Given the description of an element on the screen output the (x, y) to click on. 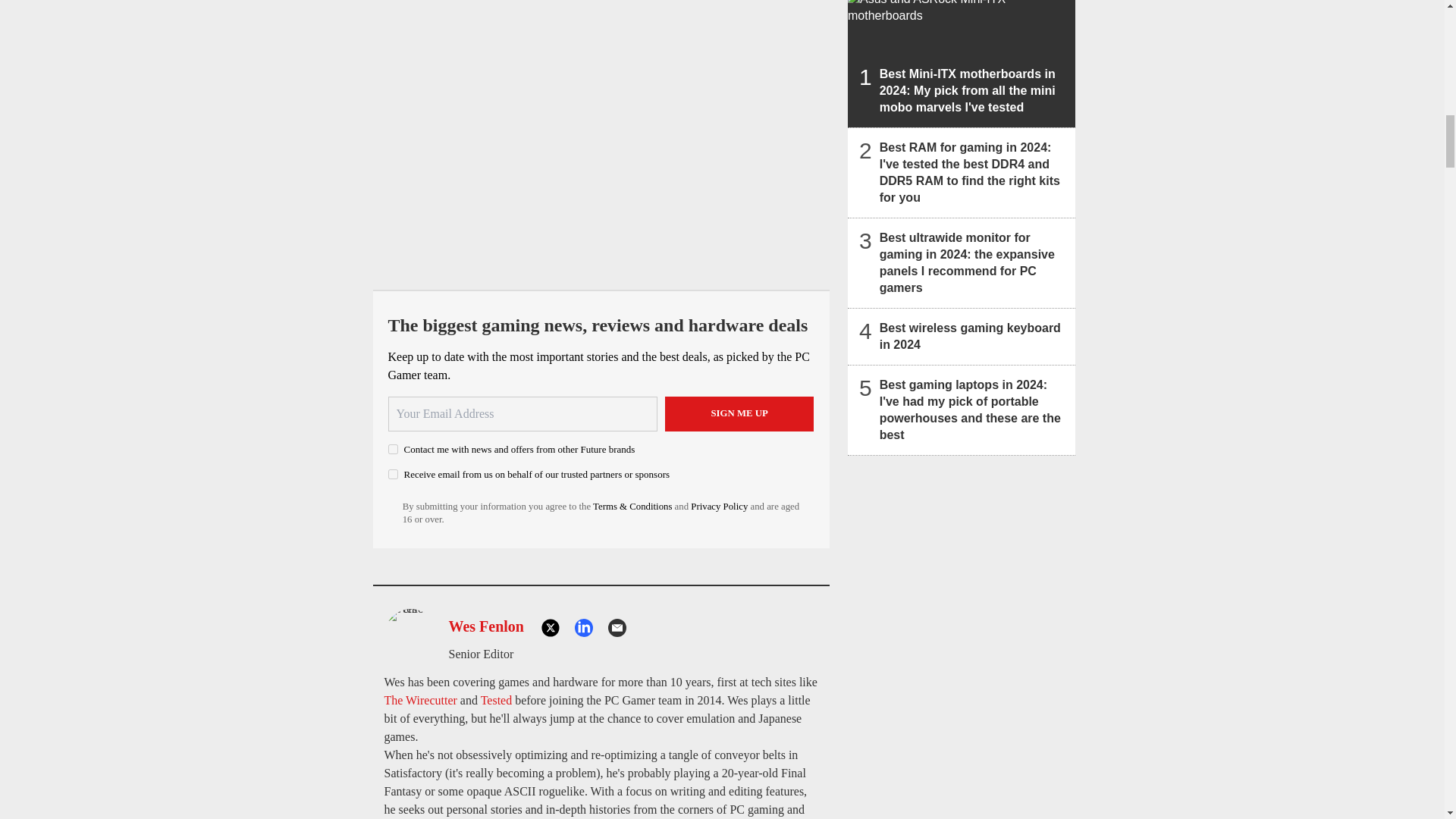
Sign me up (739, 413)
on (392, 474)
on (392, 449)
